Given the description of an element on the screen output the (x, y) to click on. 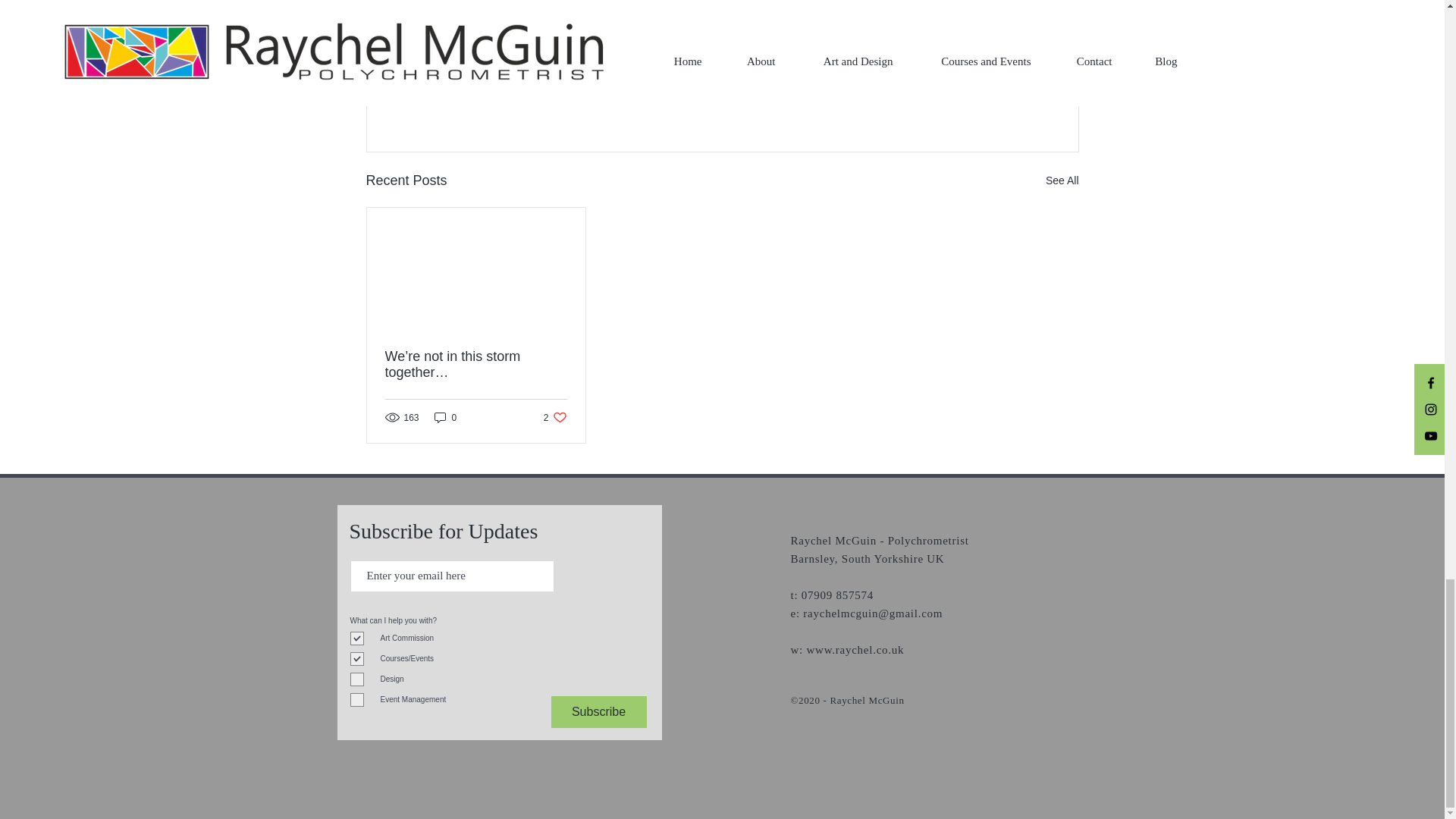
0 (990, 97)
ExcludedUK (445, 417)
www.raychel.co.uk (593, 3)
change (855, 649)
See All (521, 3)
Journey (1061, 180)
ExcludedUK (727, 3)
Course (555, 417)
Brexit (973, 51)
Subscribe (666, 3)
